Given the description of an element on the screen output the (x, y) to click on. 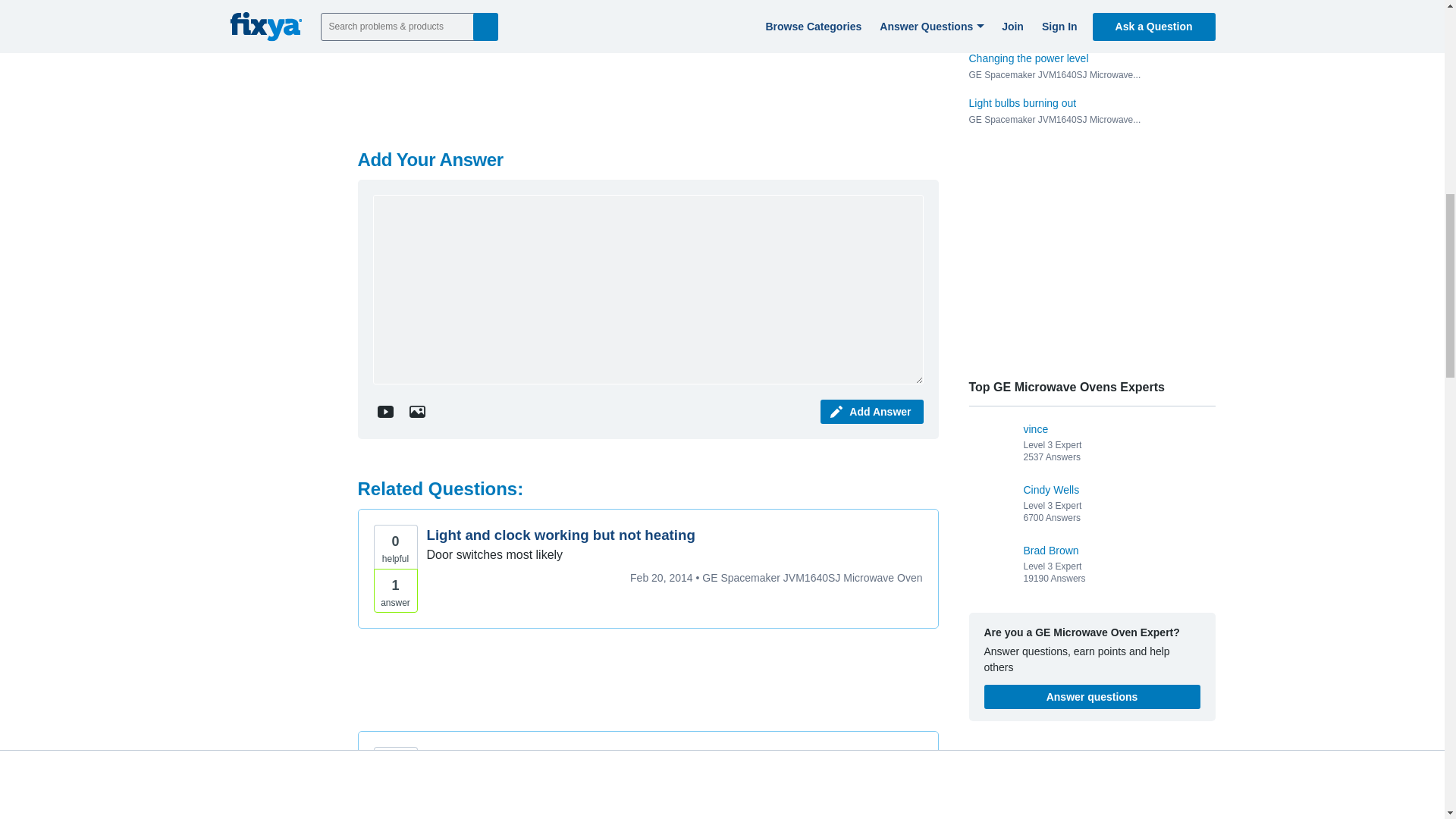
Add Answer (872, 411)
